Given the description of an element on the screen output the (x, y) to click on. 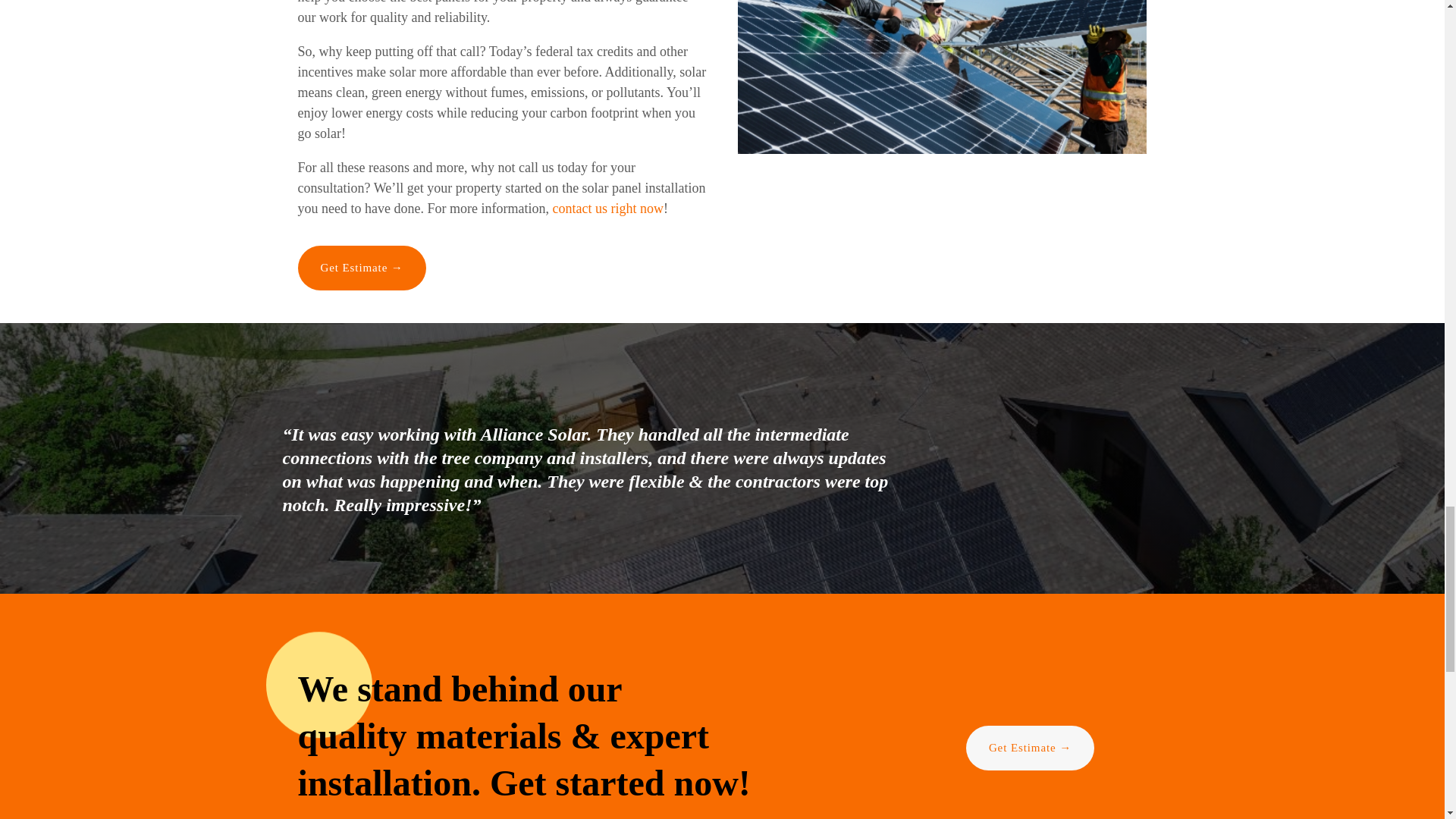
contact us right now (606, 208)
